Given the description of an element on the screen output the (x, y) to click on. 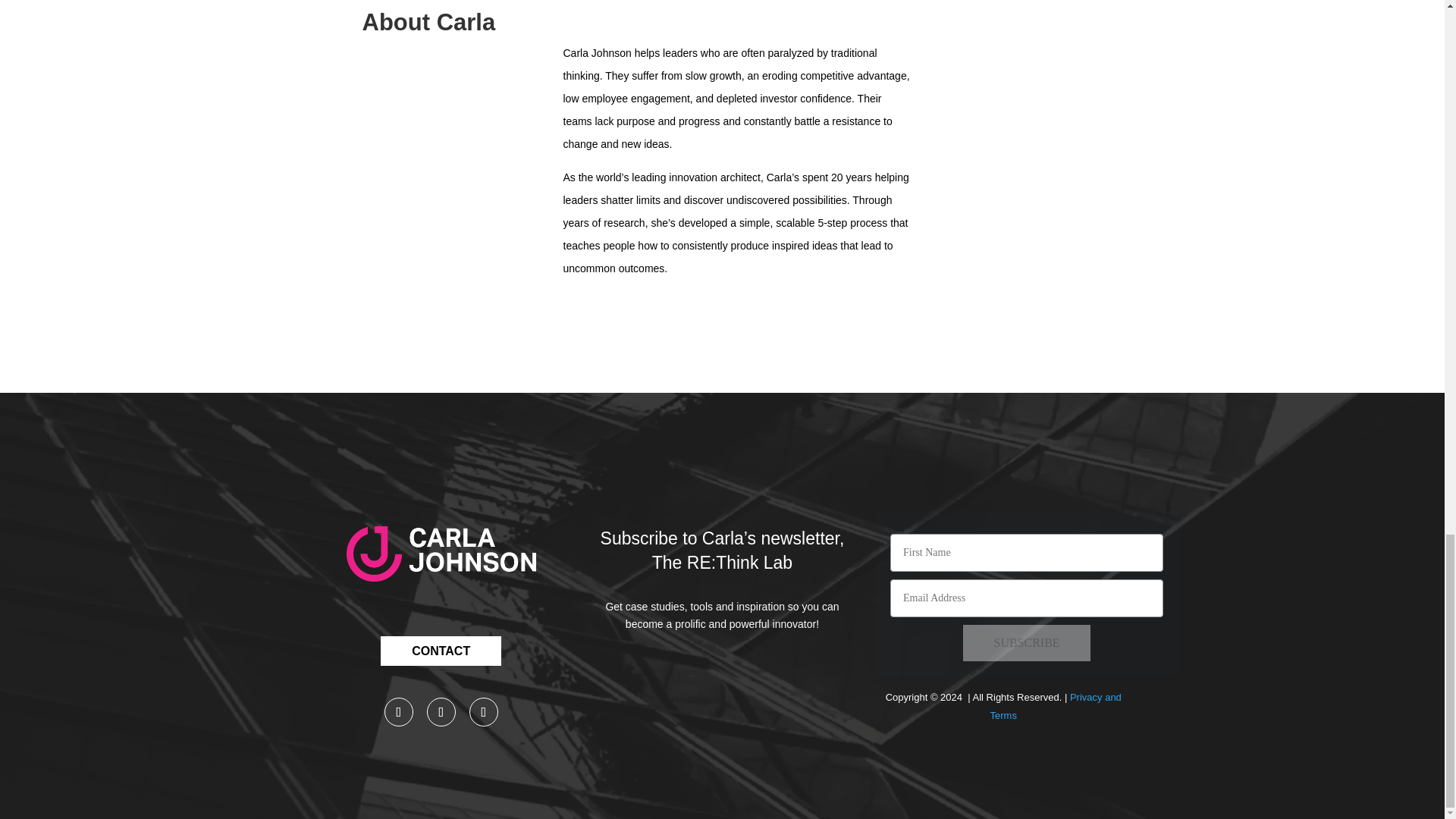
Carla Johnson (440, 553)
Follow on X (440, 711)
CONTACT (440, 650)
Follow on LinkedIn (398, 711)
Follow on Instagram (482, 711)
